Given the description of an element on the screen output the (x, y) to click on. 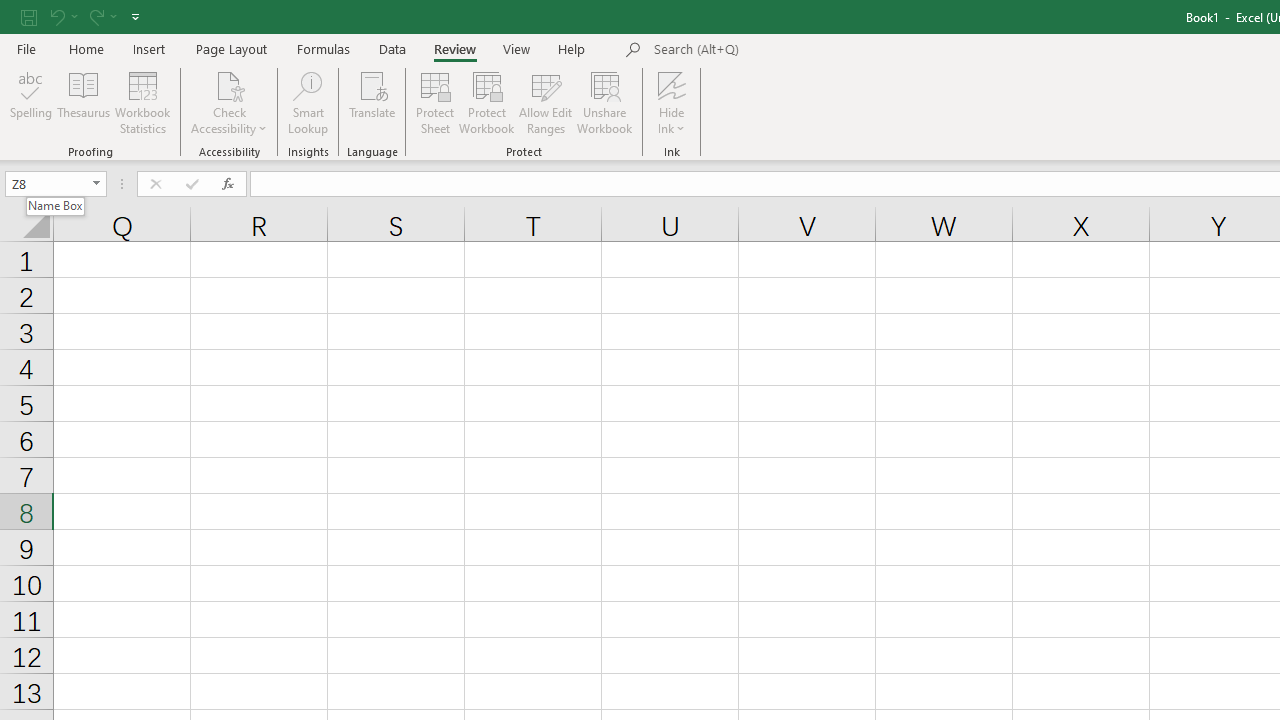
Hide Ink (671, 102)
Spelling... (31, 102)
Protect Workbook... (486, 102)
Allow Edit Ranges (545, 102)
Unshare Workbook (604, 102)
Smart Lookup (308, 102)
Translate (372, 102)
